Given the description of an element on the screen output the (x, y) to click on. 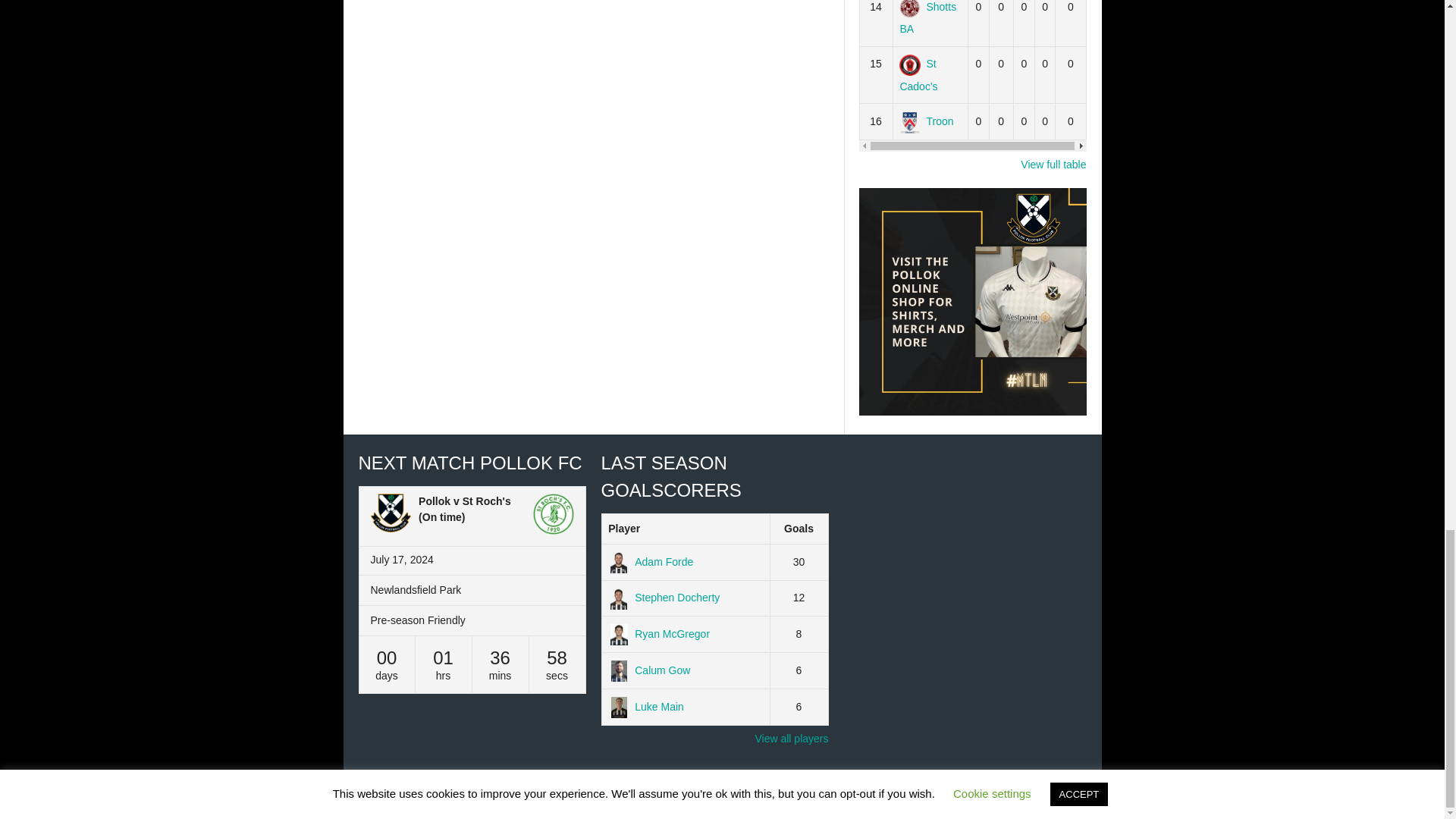
Pollok (389, 515)
